Given the description of an element on the screen output the (x, y) to click on. 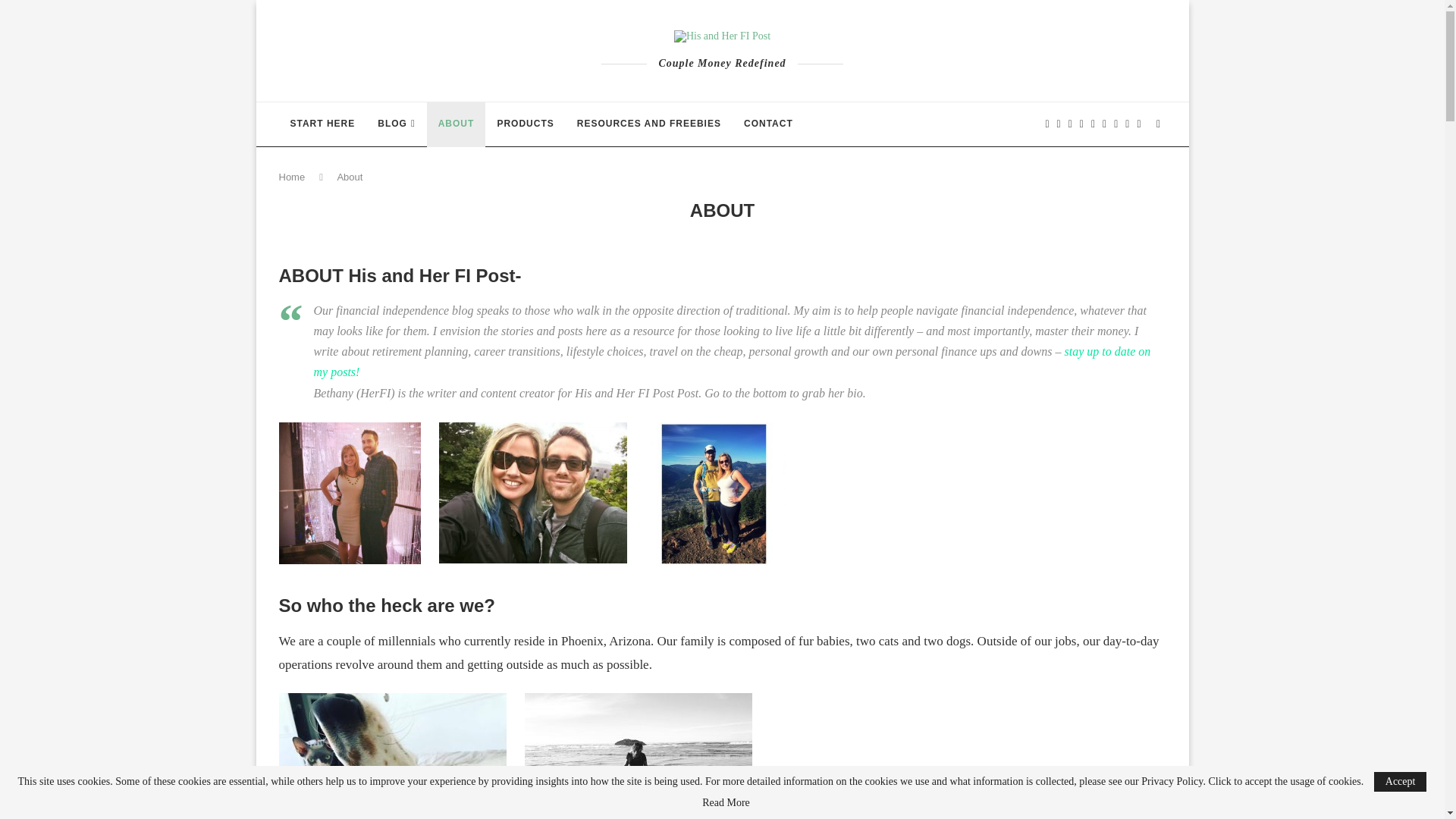
BLOG (396, 124)
stay up to date on my posts! (732, 361)
PRODUCTS (524, 124)
Home (292, 176)
RESOURCES AND FREEBIES (649, 124)
ABOUT (456, 124)
CONTACT (768, 124)
START HERE (322, 124)
